Given the description of an element on the screen output the (x, y) to click on. 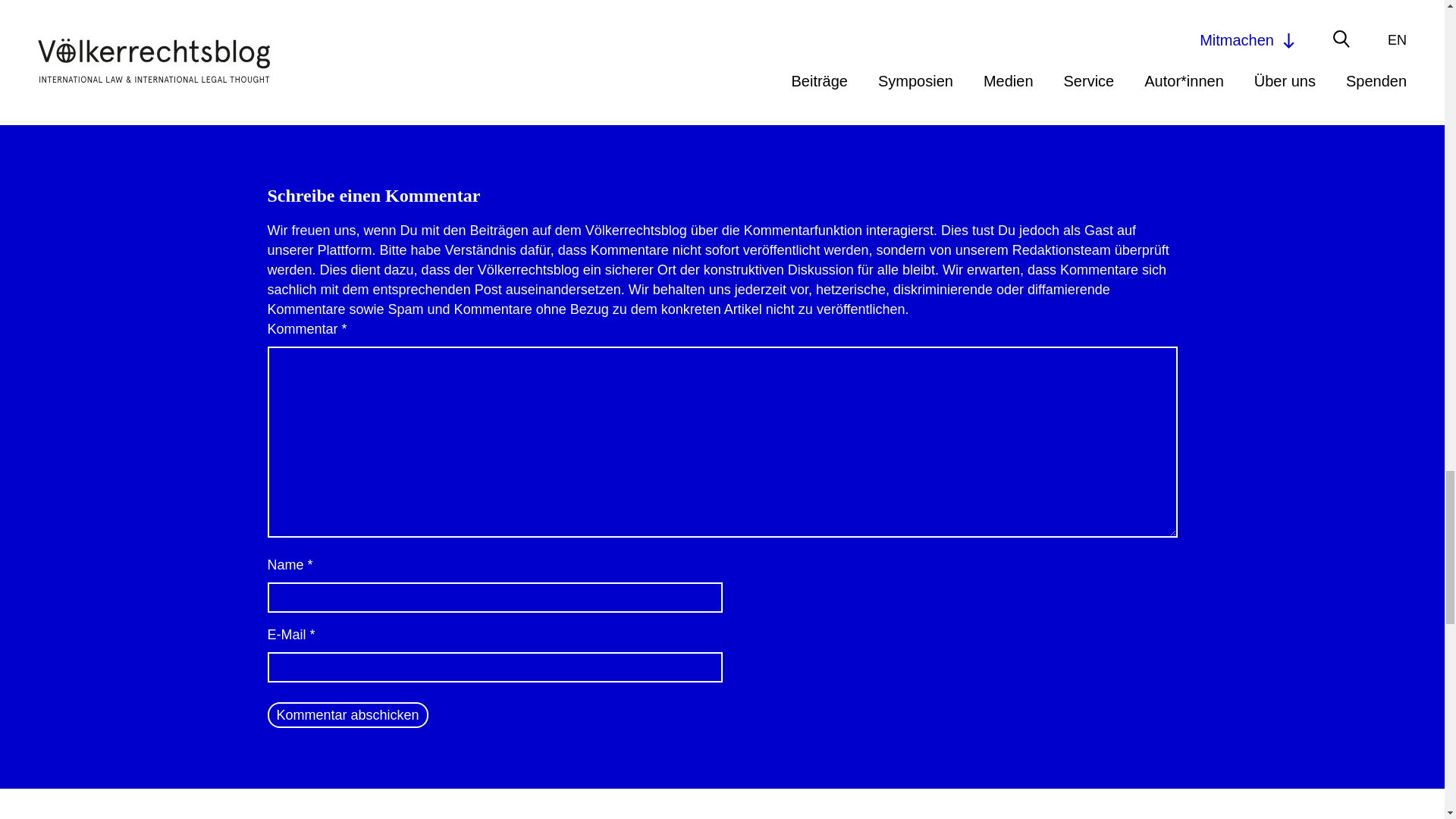
Kommentar abschicken (347, 714)
